Given the description of an element on the screen output the (x, y) to click on. 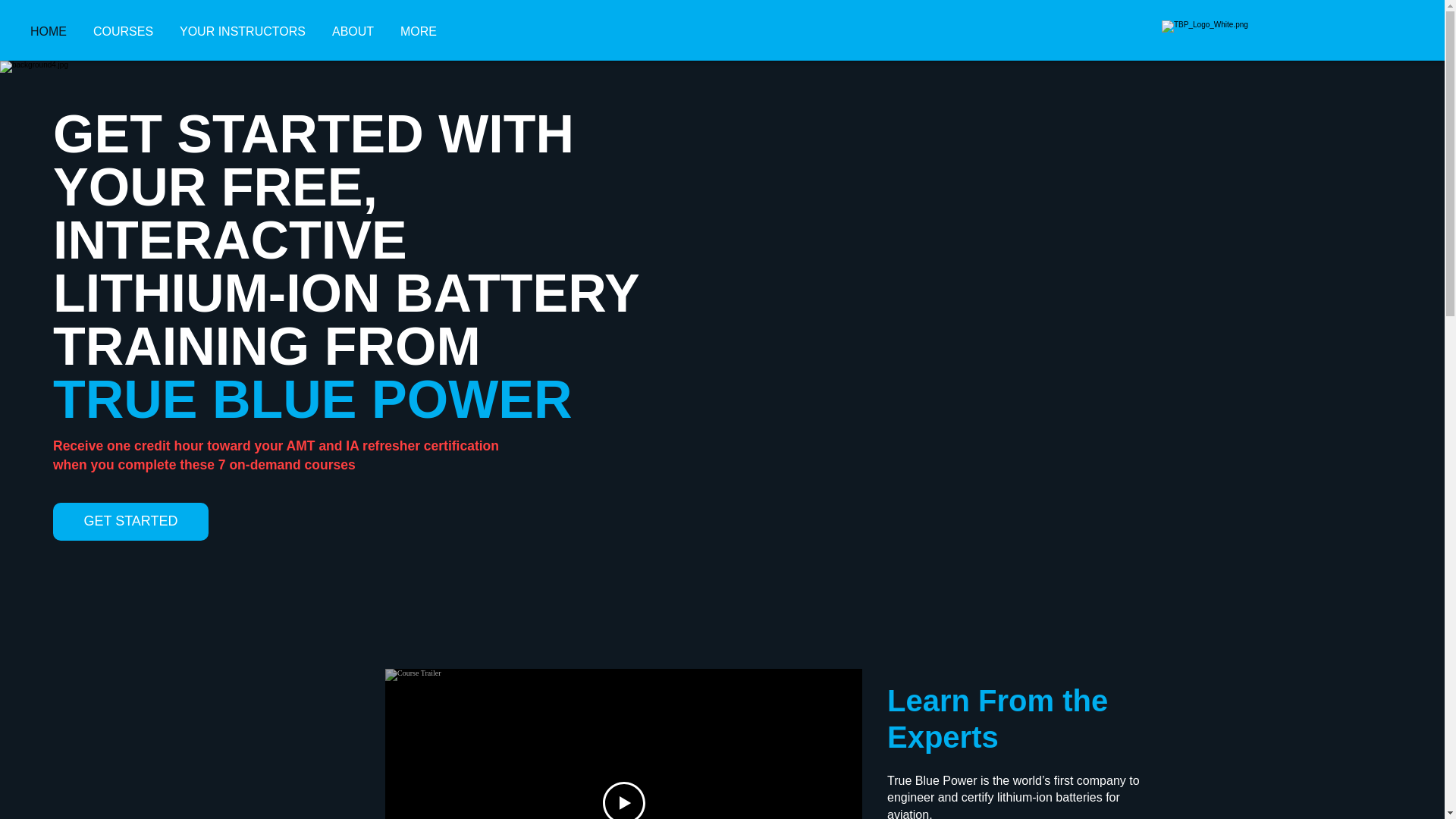
GET STARTED (130, 521)
HOME (49, 31)
ABOUT (354, 31)
COURSES (124, 31)
YOUR INSTRUCTORS (244, 31)
